Given the description of an element on the screen output the (x, y) to click on. 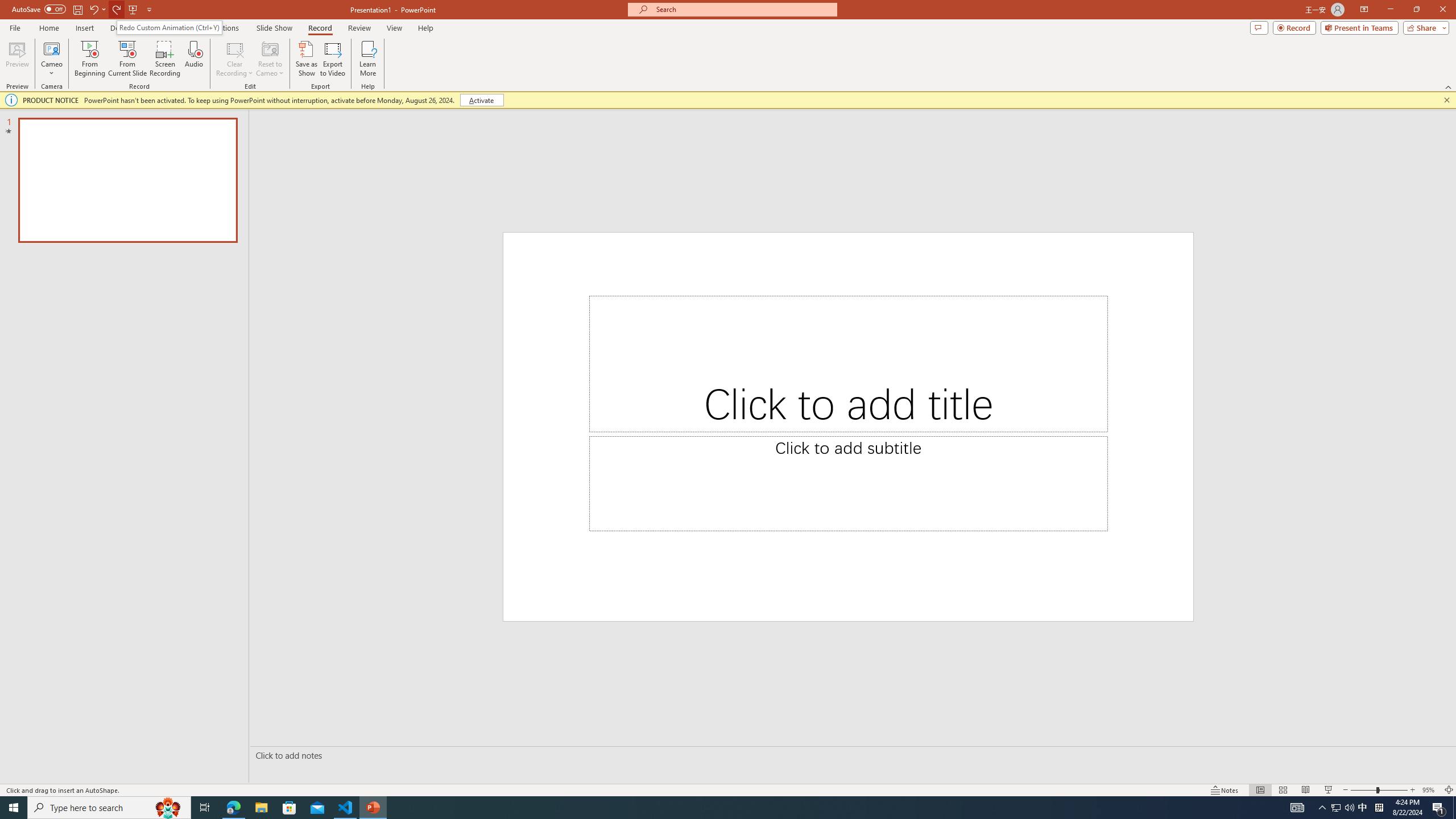
Save as Show (306, 58)
